Given the description of an element on the screen output the (x, y) to click on. 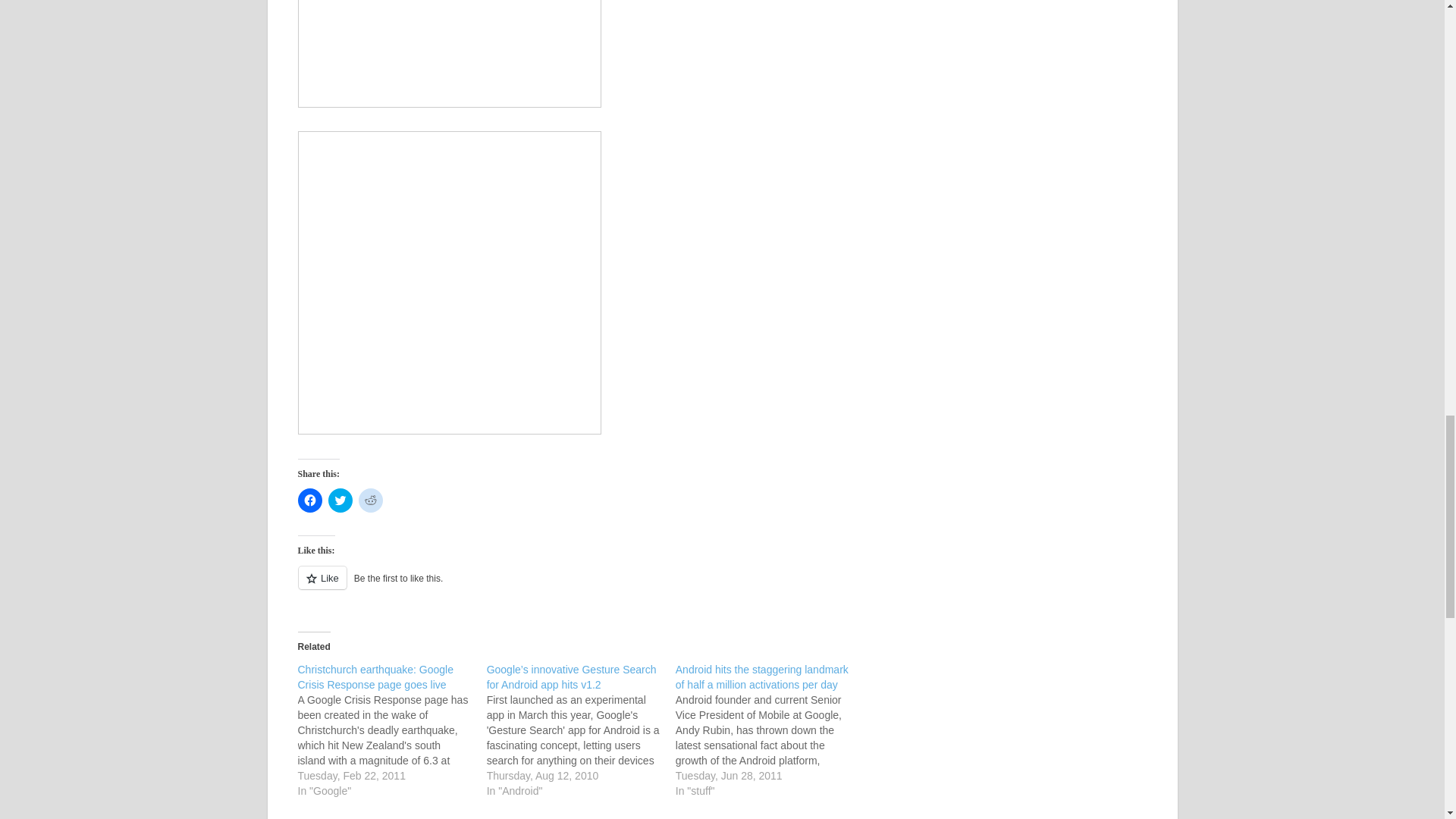
Click to share on Reddit (369, 500)
Click to share on Twitter (339, 500)
Like or Reblog (575, 586)
Click to share on Facebook (309, 500)
